Given the description of an element on the screen output the (x, y) to click on. 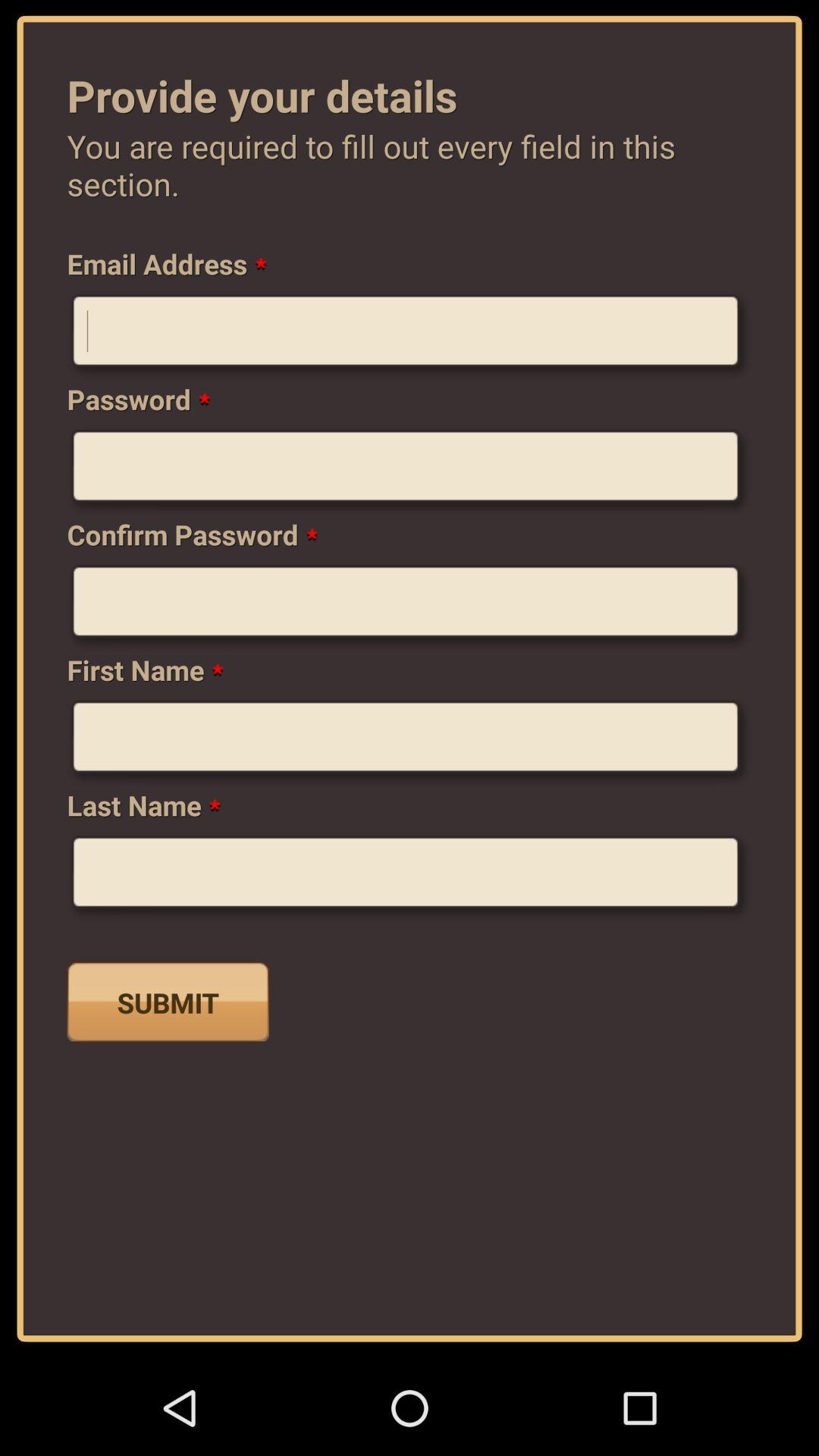
first name (409, 742)
